Given the description of an element on the screen output the (x, y) to click on. 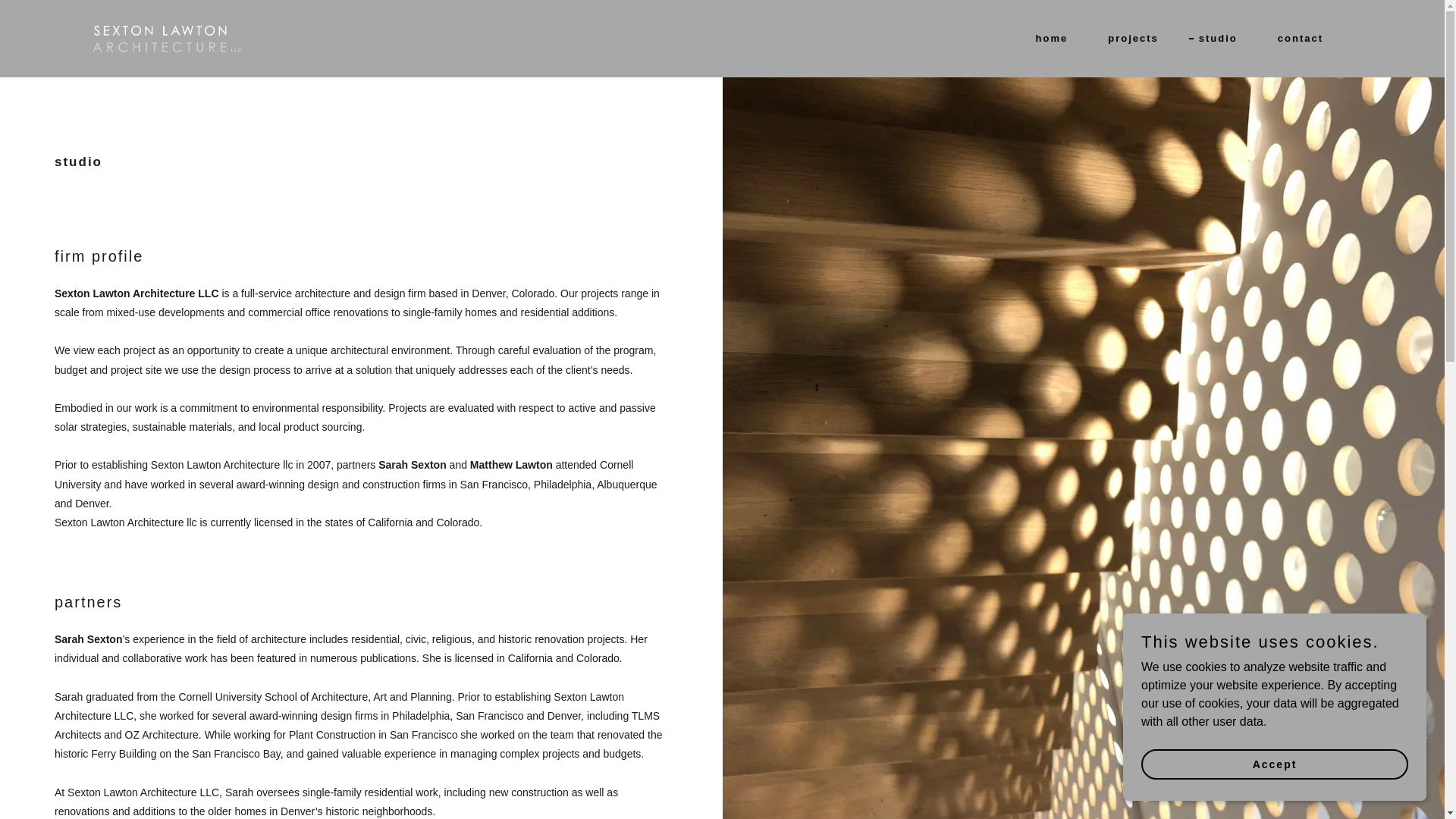
Sexton Lawton Architecture LLC (166, 37)
contact (1295, 38)
projects (1128, 38)
studio (1213, 38)
Accept (1274, 764)
home (1047, 38)
